Given the description of an element on the screen output the (x, y) to click on. 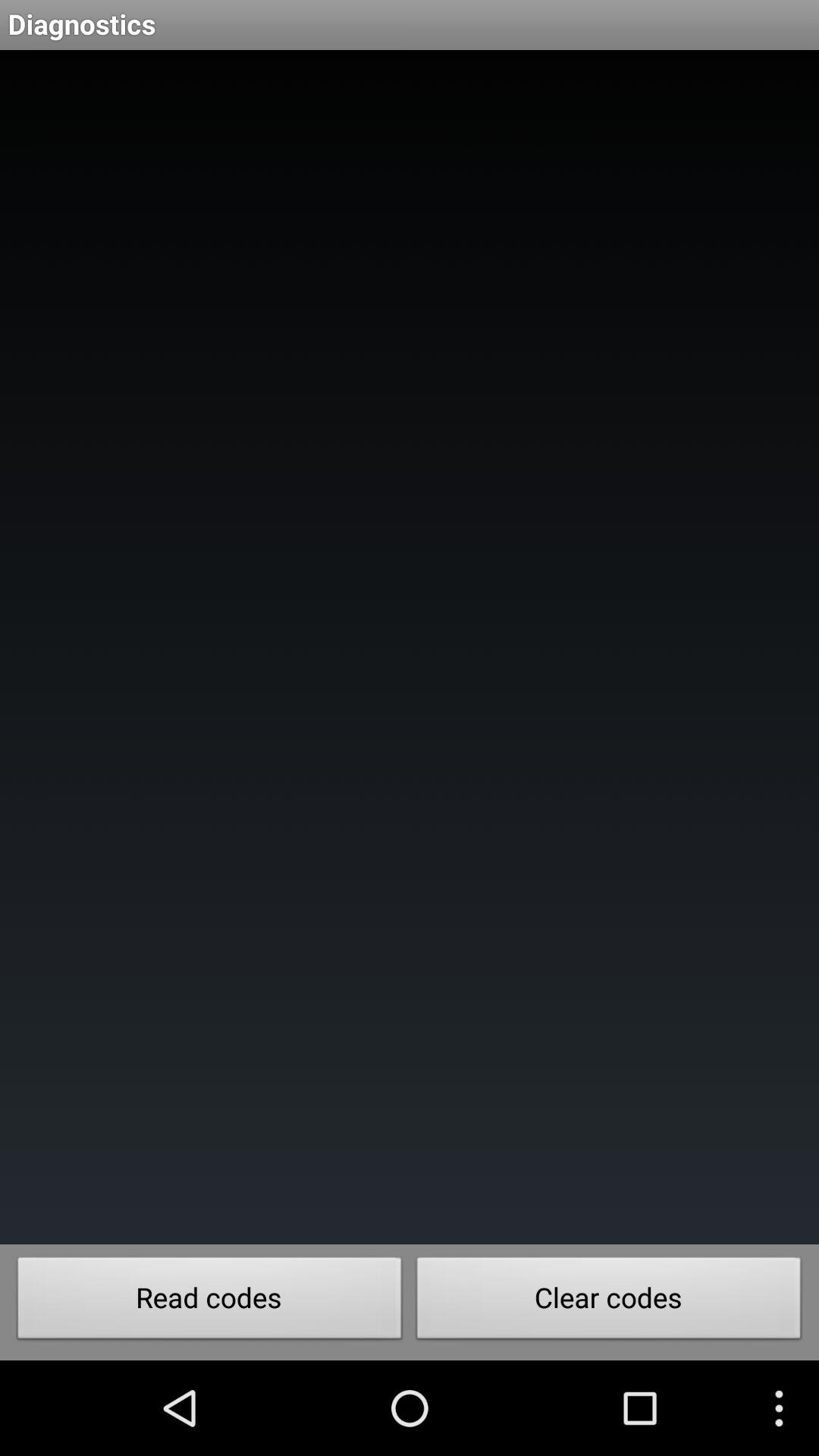
turn on button next to the read codes (608, 1302)
